Given the description of an element on the screen output the (x, y) to click on. 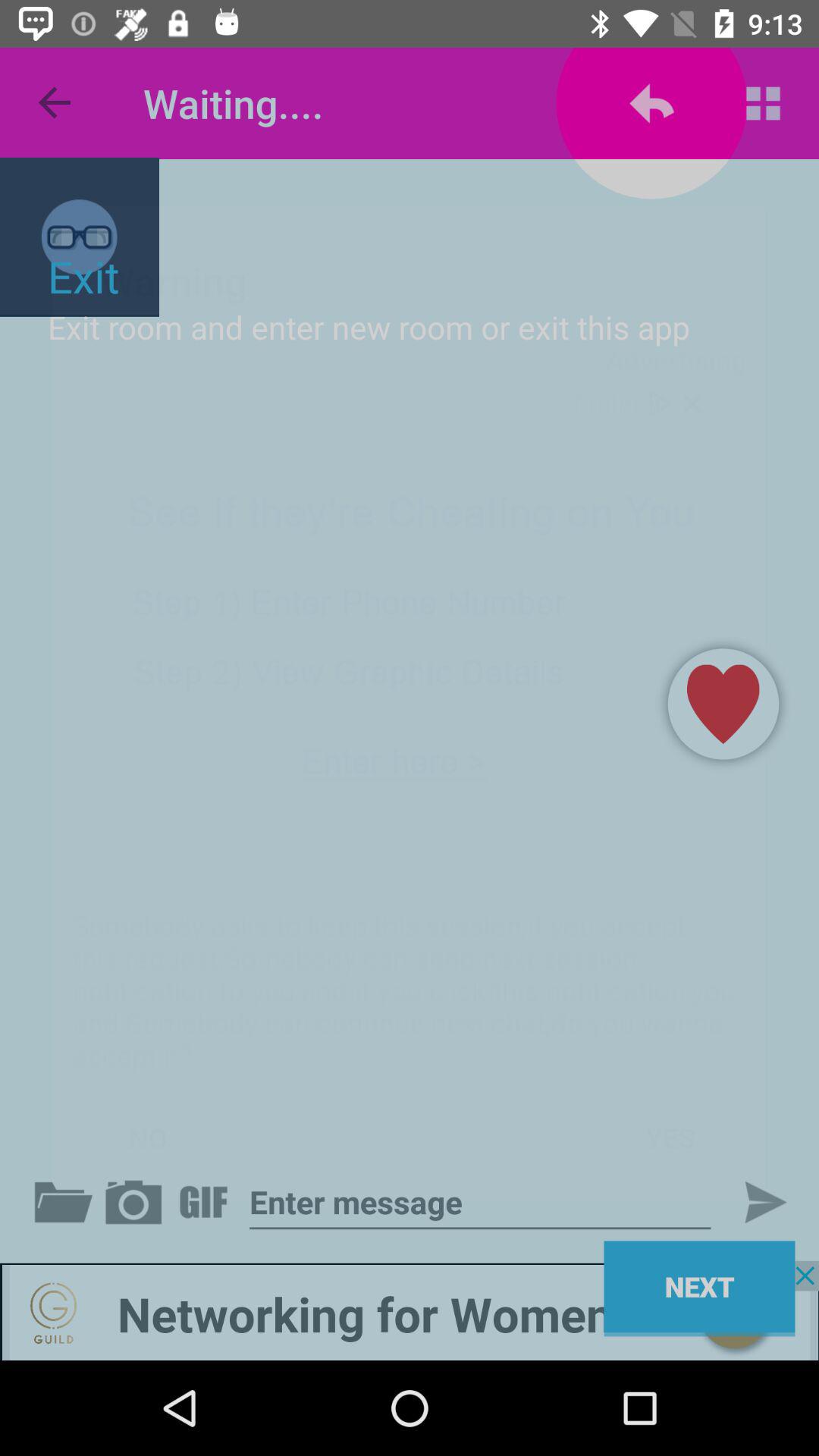
send message (752, 1202)
